Given the description of an element on the screen output the (x, y) to click on. 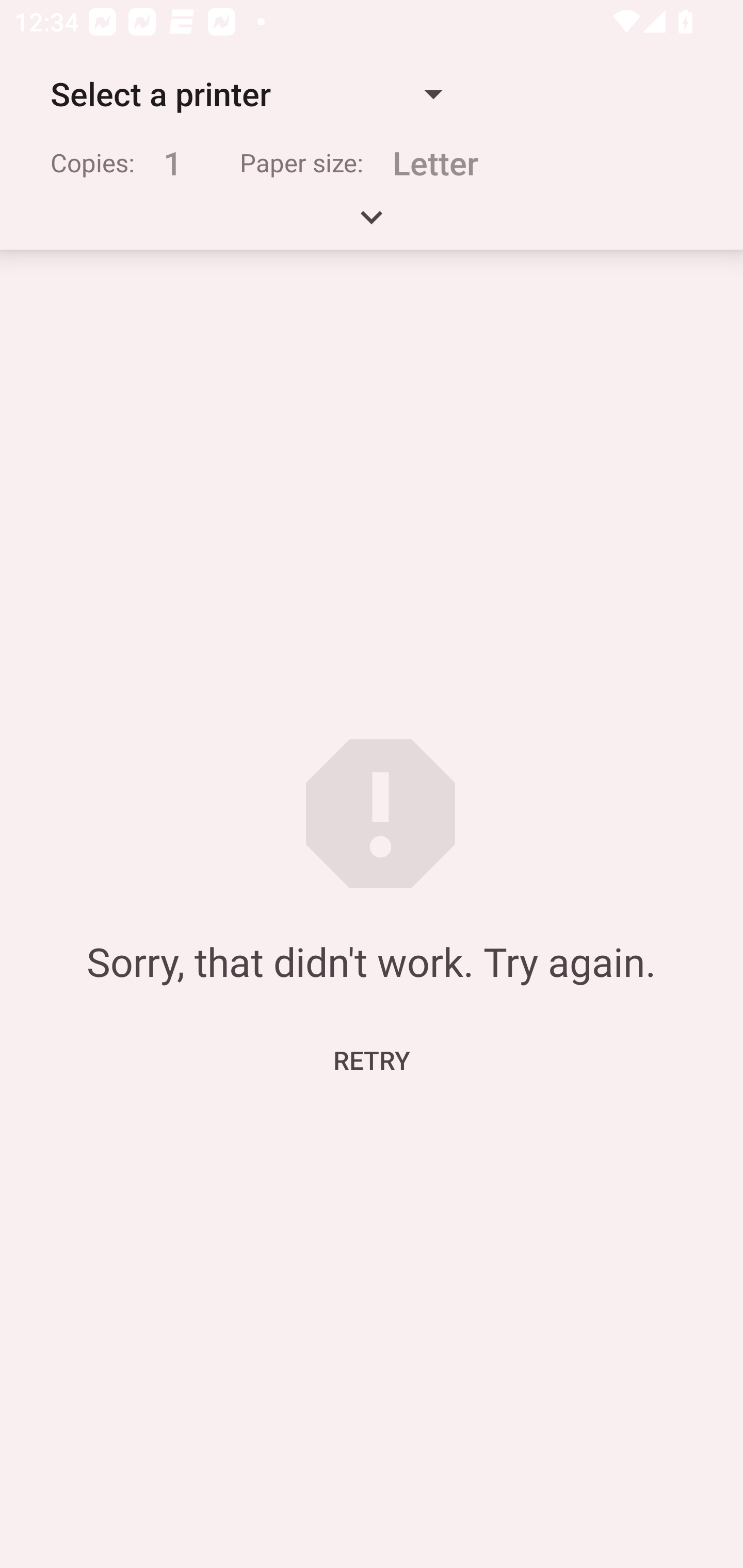
Select a printer (245, 93)
Expand handle (371, 224)
RETRY (371, 1059)
